Given the description of an element on the screen output the (x, y) to click on. 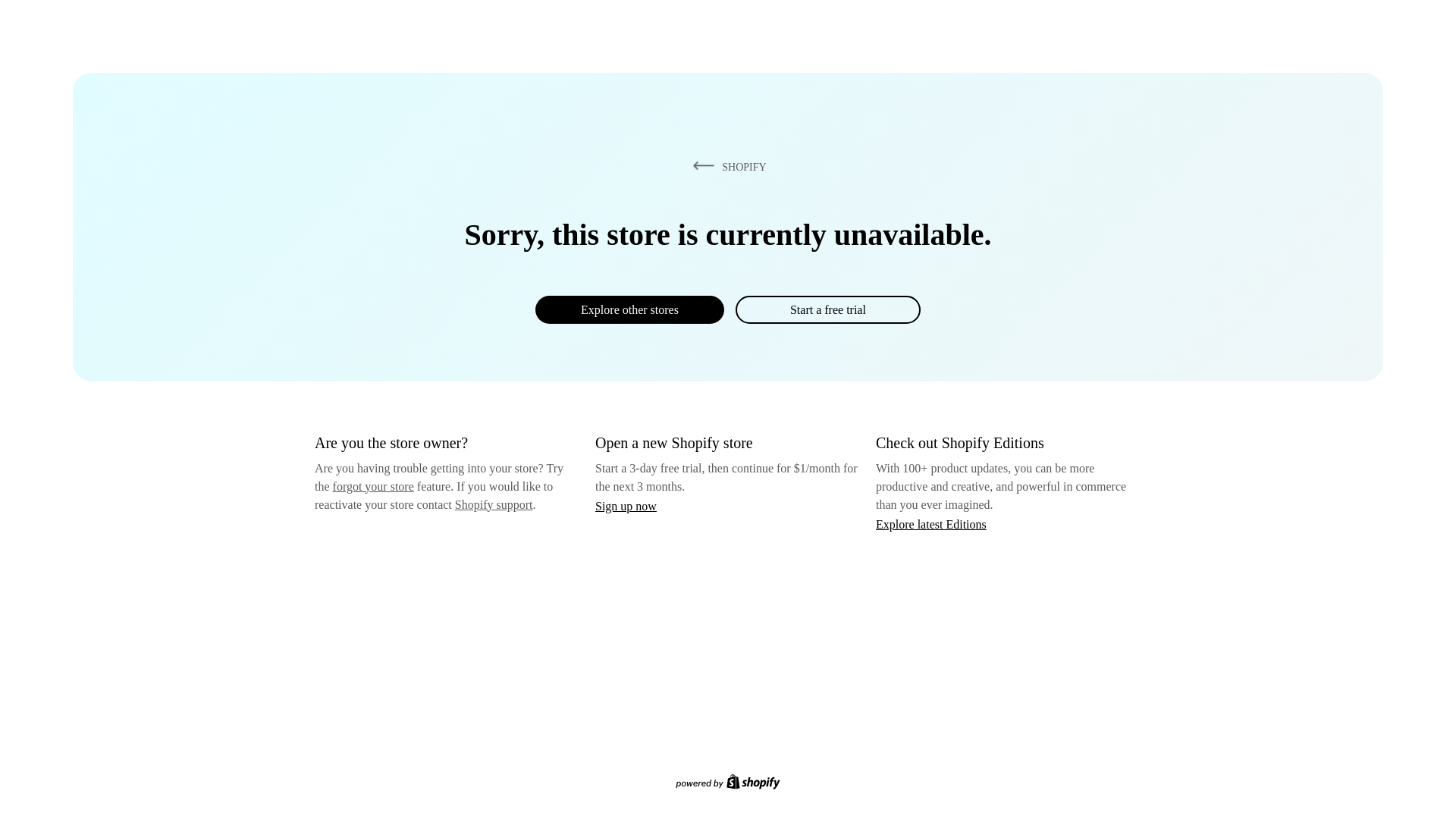
Start a free trial (827, 309)
Shopify support (493, 504)
Explore latest Editions (931, 523)
forgot your store (373, 486)
Explore other stores (629, 309)
SHOPIFY (726, 166)
Sign up now (625, 505)
